Given the description of an element on the screen output the (x, y) to click on. 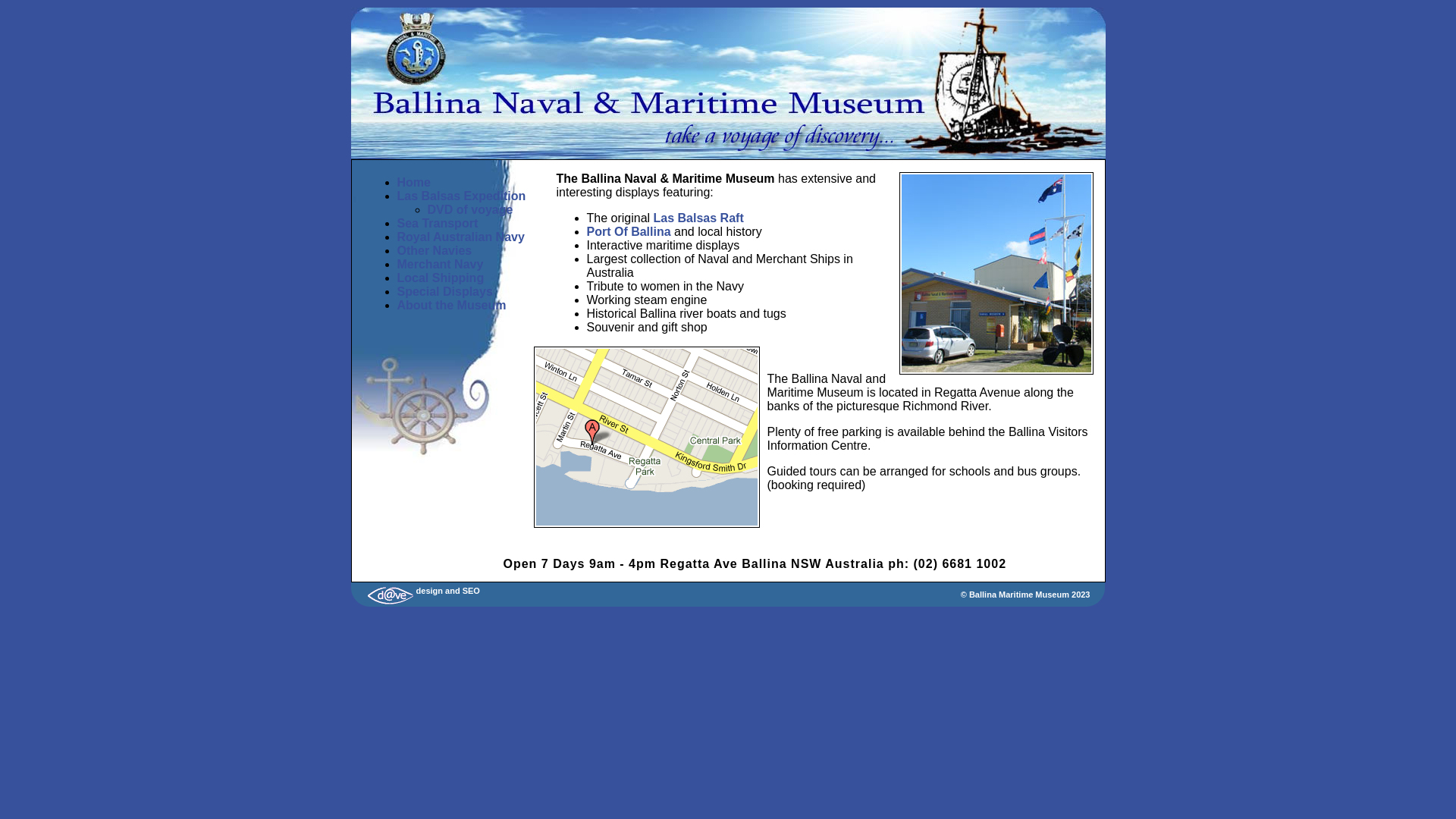
Home Element type: text (413, 181)
site design by DaVE: Digital and Virtual Environments Element type: hover (389, 593)
Sea Transport Element type: text (437, 222)
Royal Australian Navy Element type: text (460, 236)
Las Balsas Raft Element type: text (698, 217)
DVD of voyage Element type: text (470, 209)
Other Navies Element type: text (434, 250)
Merchant Navy Element type: text (440, 263)
Las Balsas Expedition Element type: text (461, 195)
Local Shipping Element type: text (440, 277)
About the Museum Element type: text (451, 304)
Port Of Ballina Element type: text (628, 231)
Special Displays Element type: text (444, 291)
design and SEO Element type: text (422, 590)
